Given the description of an element on the screen output the (x, y) to click on. 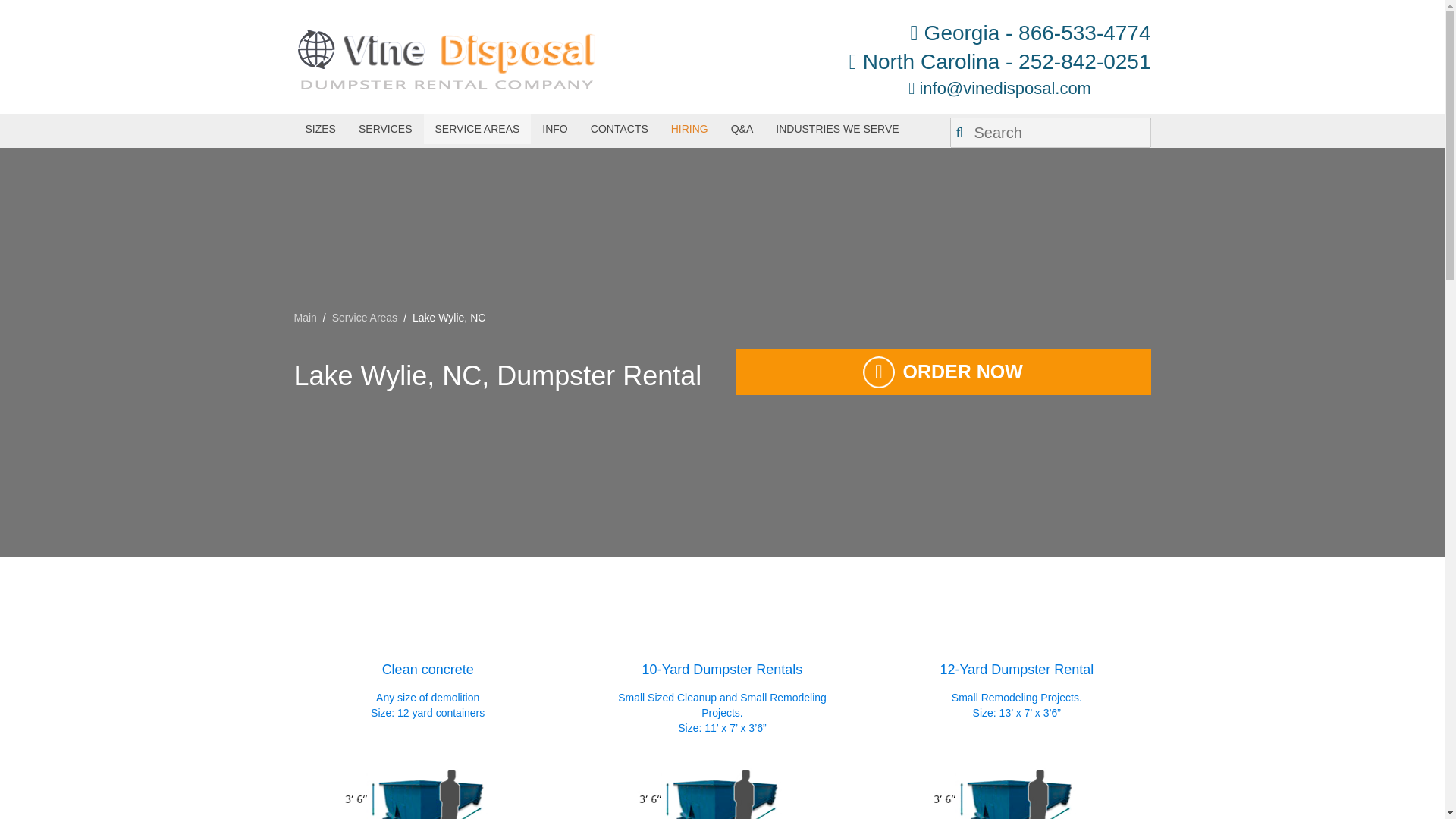
10-Yard Dumpster Rentals (722, 779)
SERVICE AREAS (477, 128)
Georgia - 866-533-4774 (999, 33)
North Carolina - 252-842-0251 (999, 61)
12-Yard Dumpster Rental (1016, 779)
SERVICES (385, 128)
Vine Disposal (445, 56)
SIZES (320, 128)
Dumpster rental for clean concrete (427, 779)
